Given the description of an element on the screen output the (x, y) to click on. 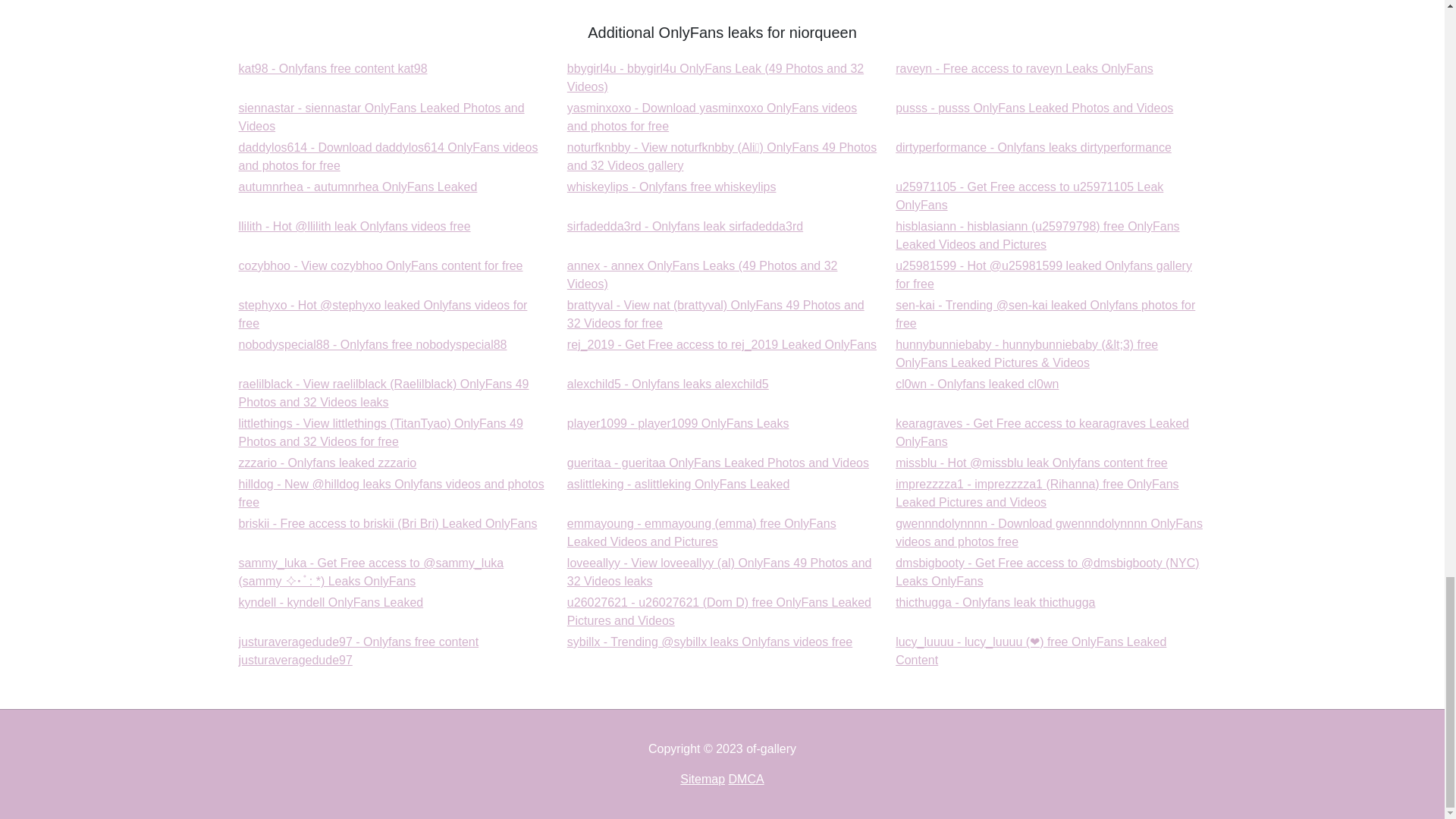
autumnrhea - autumnrhea OnlyFans Leaked (357, 186)
whiskeylips - Onlyfans free whiskeylips (1024, 68)
u25971105 - Get Free access to u25971105 Leak OnlyFans (671, 186)
kat98 - Onlyfans free content kat98 (1029, 195)
dirtyperformance - Onlyfans leaks dirtyperformance (357, 186)
